Given the description of an element on the screen output the (x, y) to click on. 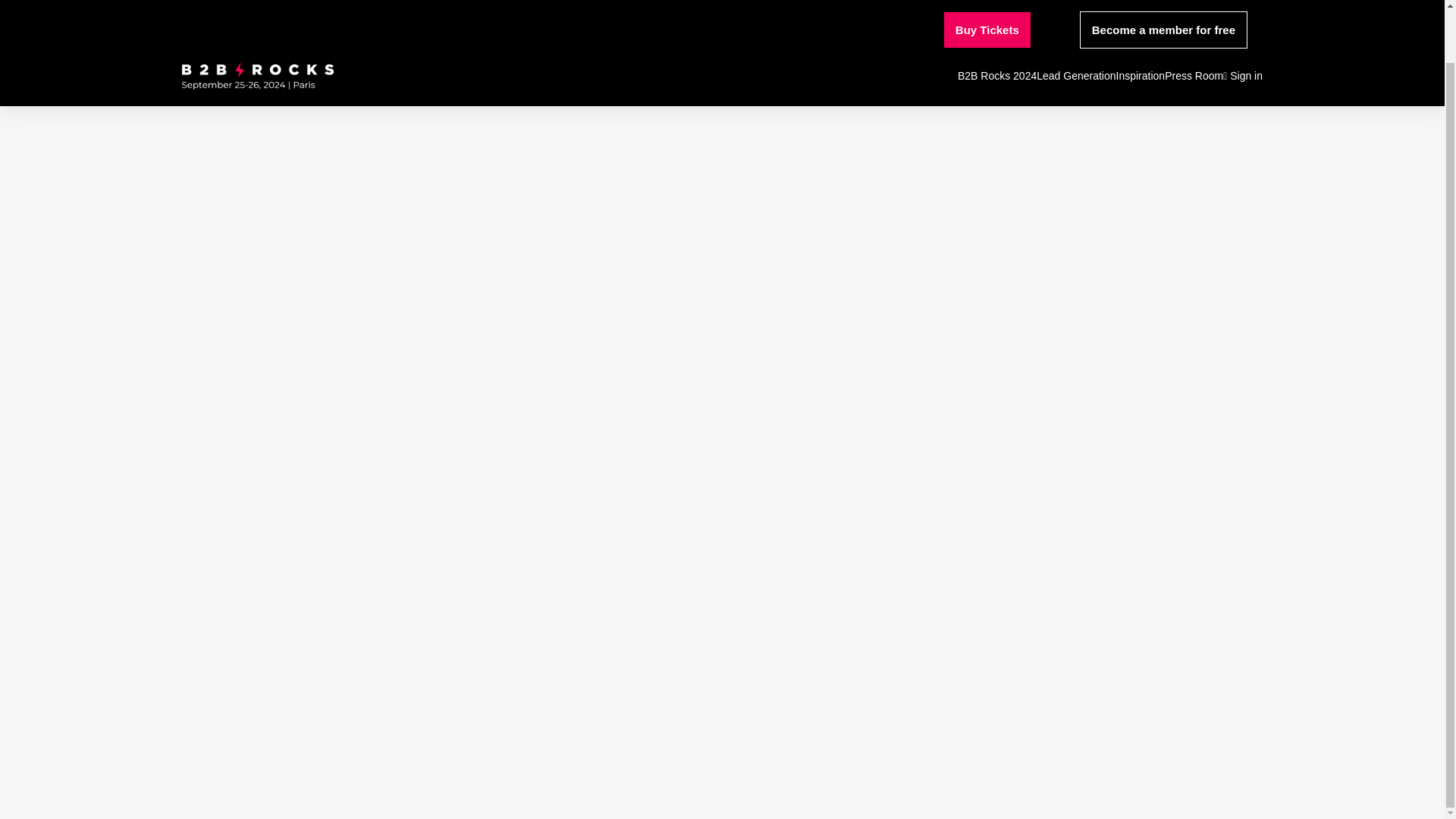
B2B Rocks 2024 (997, 19)
Inspiration (1141, 19)
Press Room (1193, 19)
Sign in (1242, 19)
Lead Generation (1075, 19)
